Given the description of an element on the screen output the (x, y) to click on. 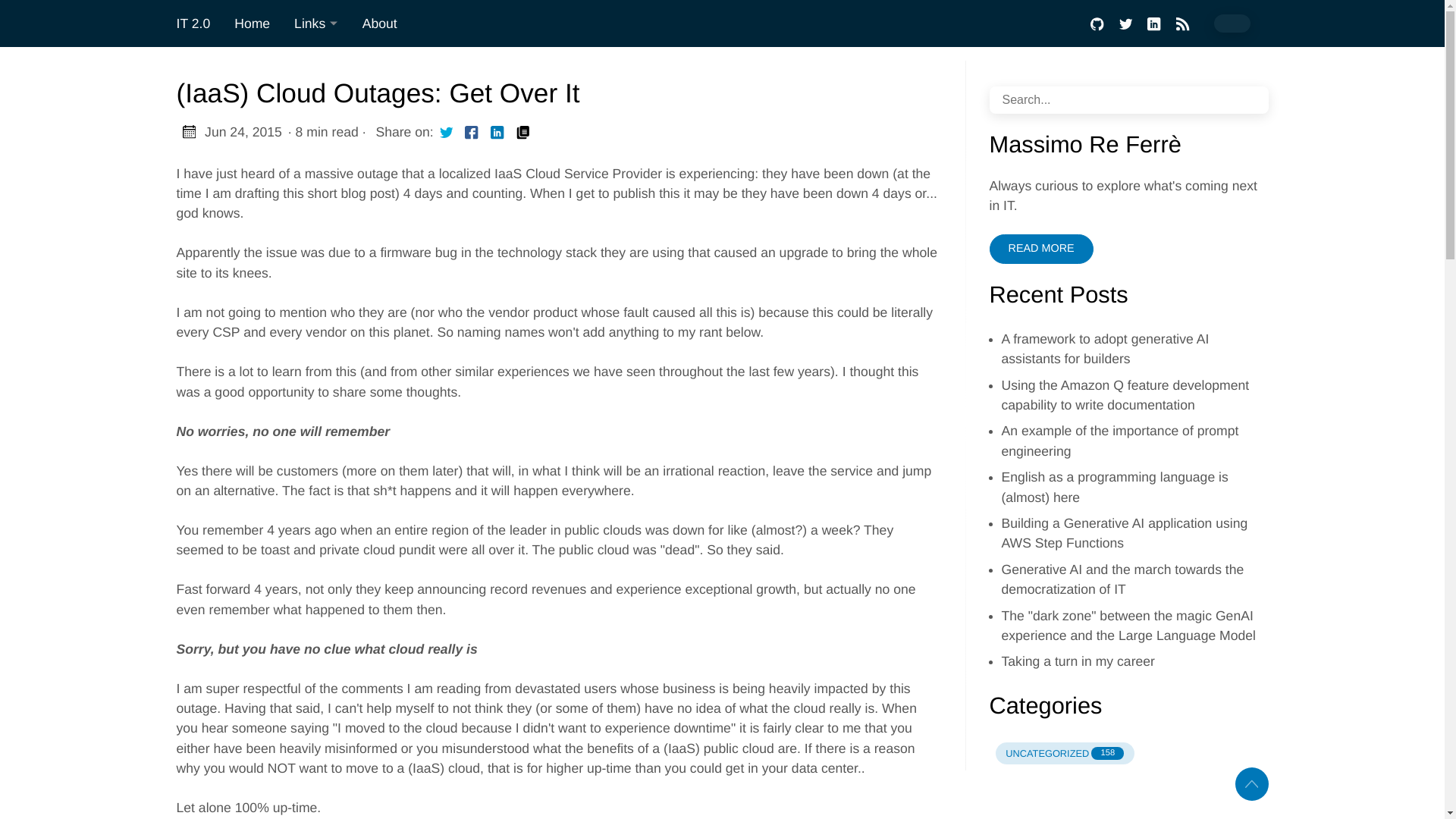
copy (522, 131)
on (1230, 23)
Share on Twitter (446, 131)
twitter (446, 131)
linkedin (1153, 24)
Share on Facebook (471, 131)
Links (316, 23)
rss (1064, 752)
An example of the importance of prompt engineering (1181, 23)
An example of the importance of prompt engineering (1120, 440)
READ MORE (1120, 440)
linkedin (1040, 249)
